Given the description of an element on the screen output the (x, y) to click on. 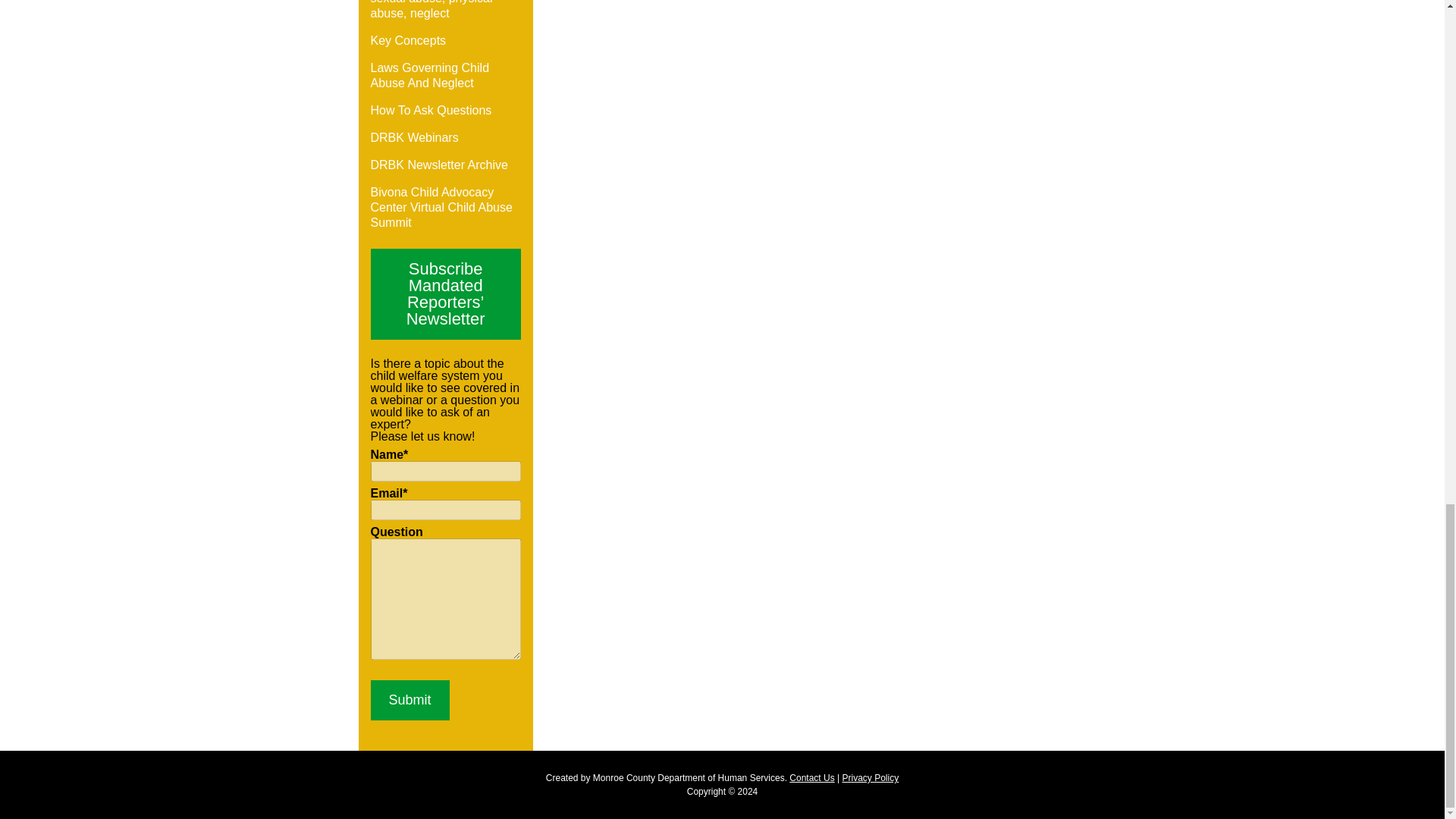
Submit (408, 700)
